Given the description of an element on the screen output the (x, y) to click on. 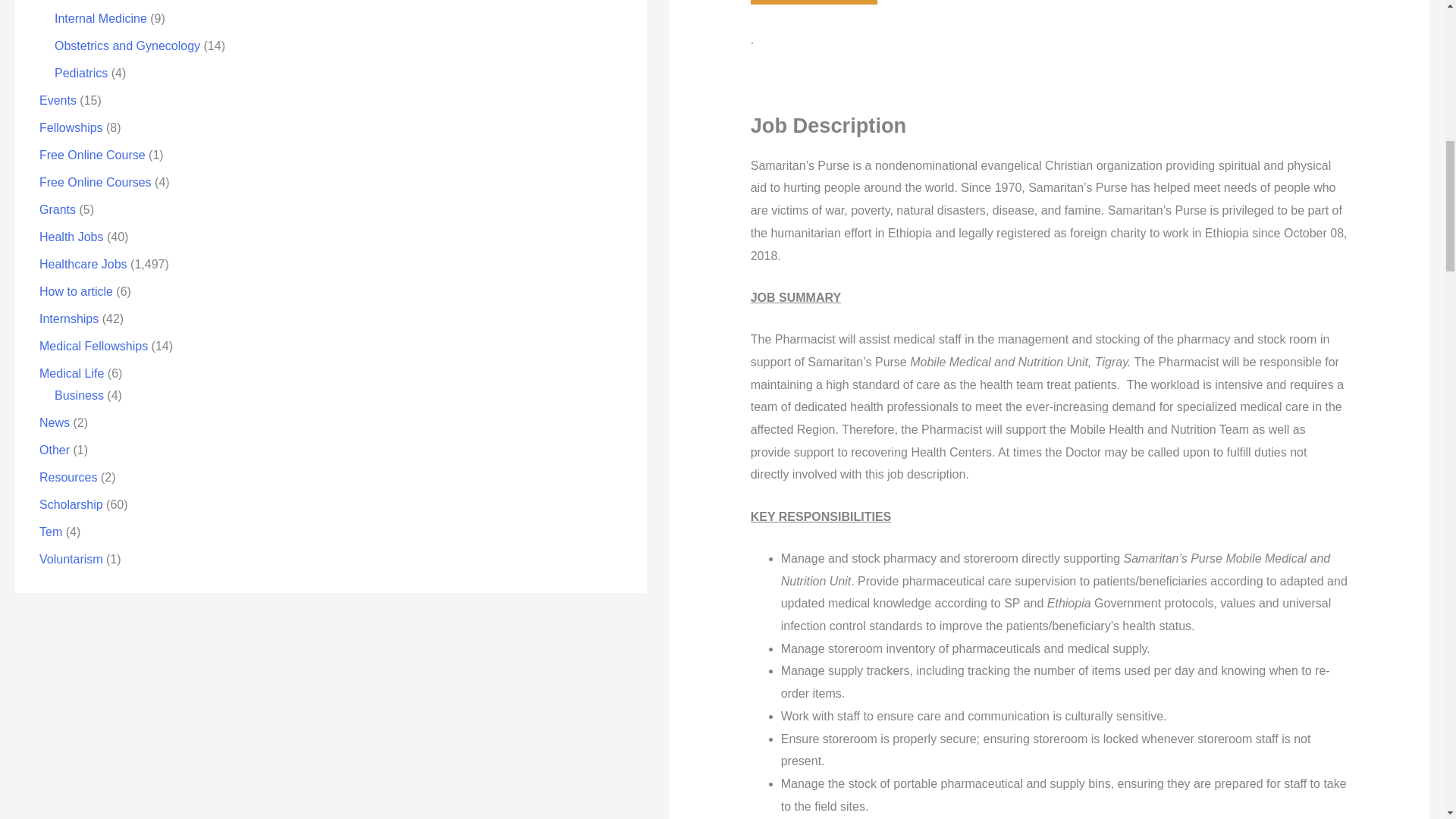
Events (58, 100)
Health Jobs (71, 236)
Grants (57, 209)
Healthcare Jobs (83, 264)
How to article (76, 291)
Obstetrics and Gynecology (127, 45)
Internal Medicine (101, 18)
Fellowships (71, 127)
Free Online Courses (95, 182)
Free Online Course (92, 154)
Pediatrics (81, 72)
